Given the description of an element on the screen output the (x, y) to click on. 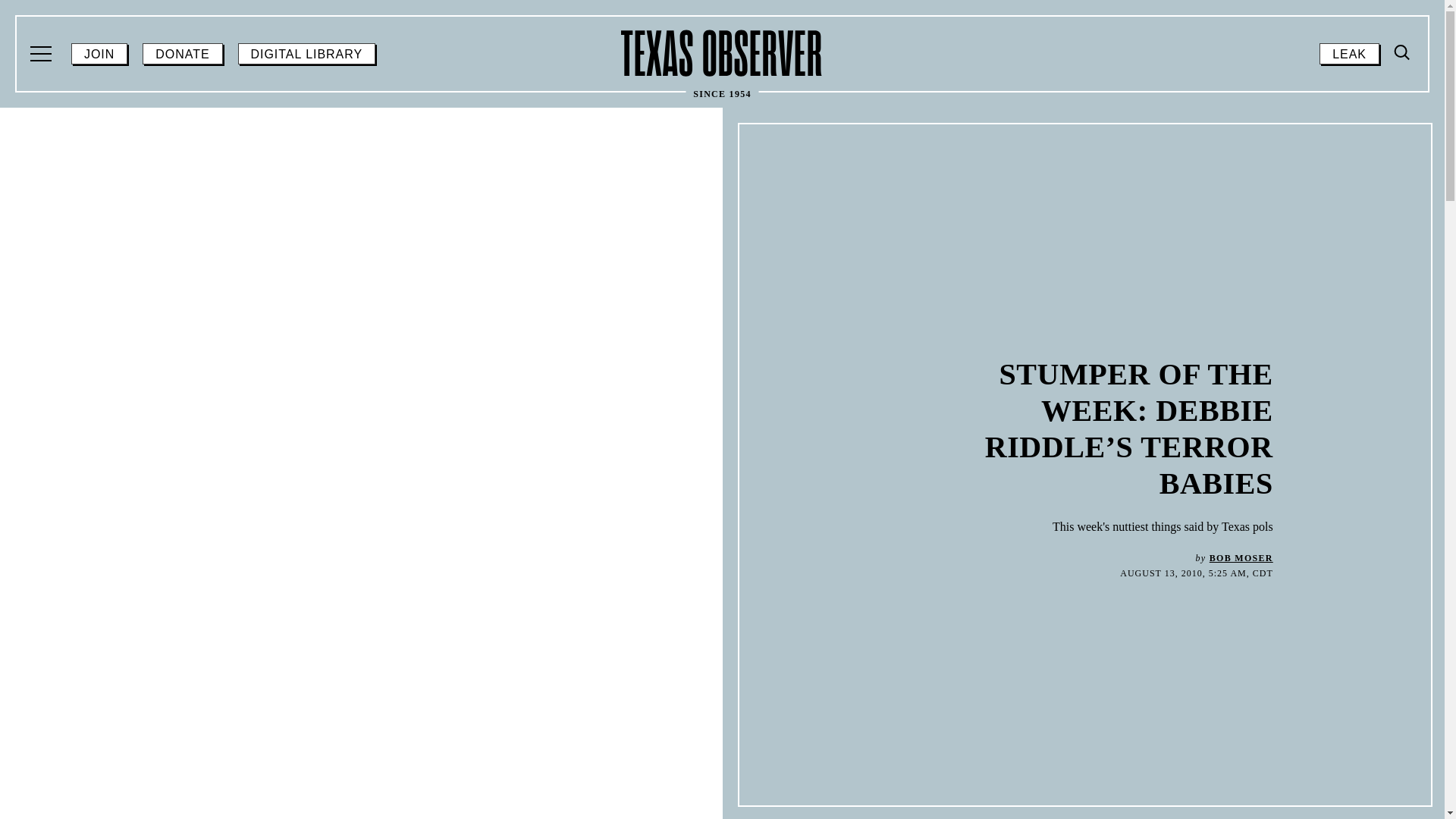
DIGITAL LIBRARY (306, 53)
Posts by Bob Moser (1402, 53)
JOIN (1240, 557)
Search icon (99, 53)
SEARCH (1402, 51)
Toggle Menu (1400, 179)
LEAK (42, 53)
The Texas Observer (1348, 53)
DONATE (721, 53)
